Given the description of an element on the screen output the (x, y) to click on. 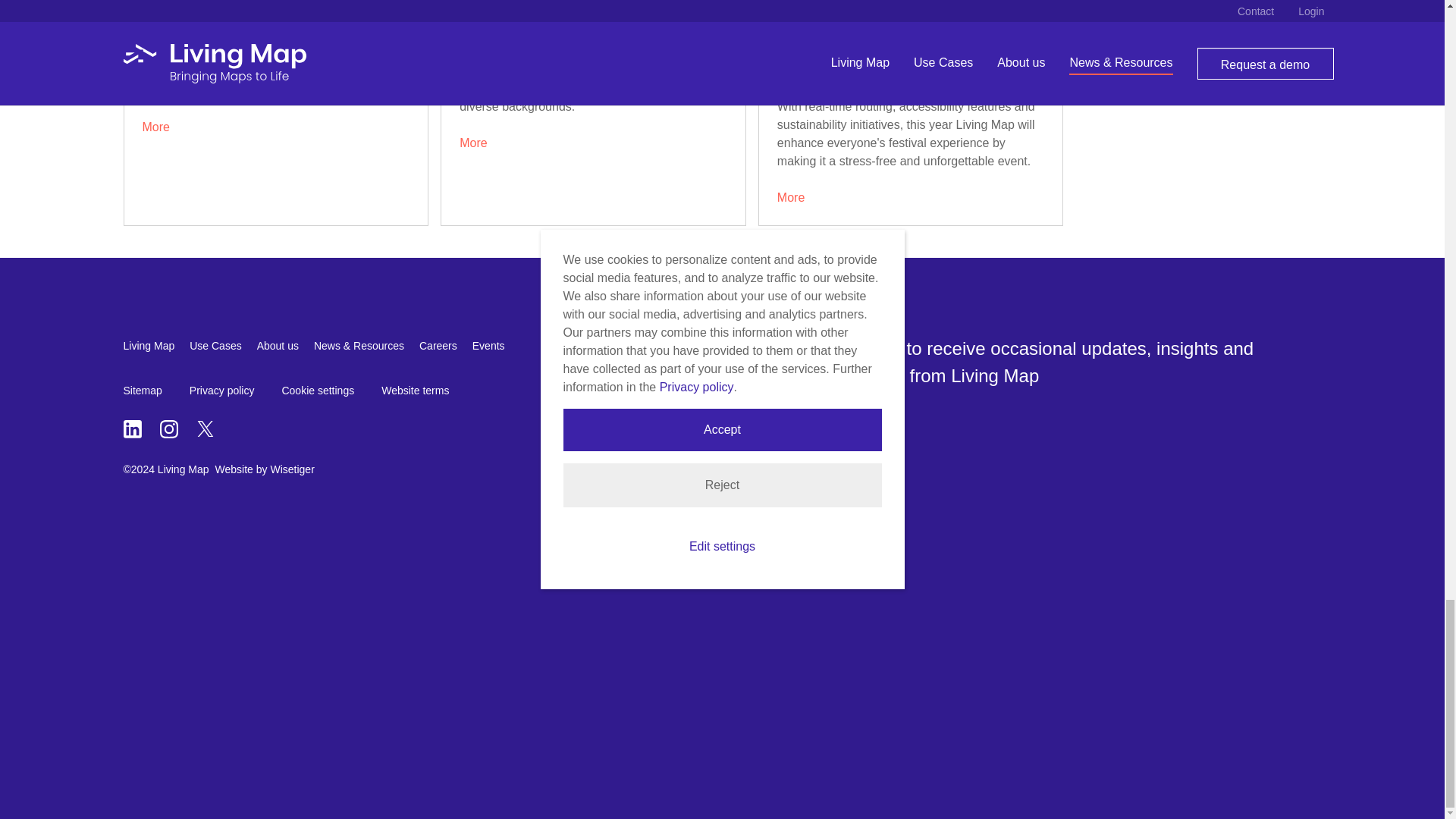
More (156, 126)
